Given the description of an element on the screen output the (x, y) to click on. 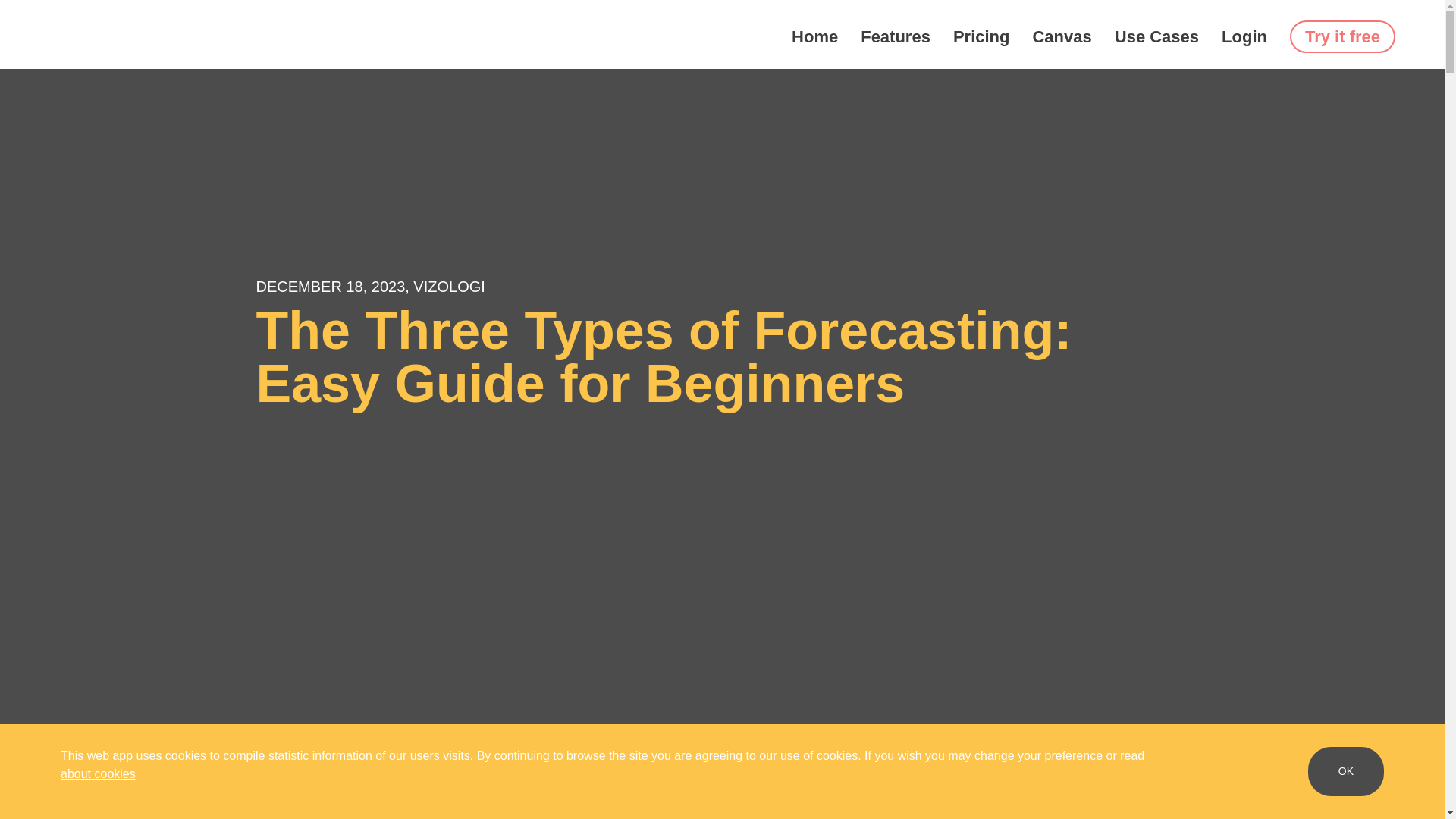
Canvas (1061, 36)
Strategic Forecasting (94, 772)
Try it free (1342, 36)
Login (1243, 36)
Features (895, 36)
read about cookies (602, 764)
OK (1345, 771)
Pricing (981, 36)
Home (815, 36)
Use Cases (1156, 36)
